Given the description of an element on the screen output the (x, y) to click on. 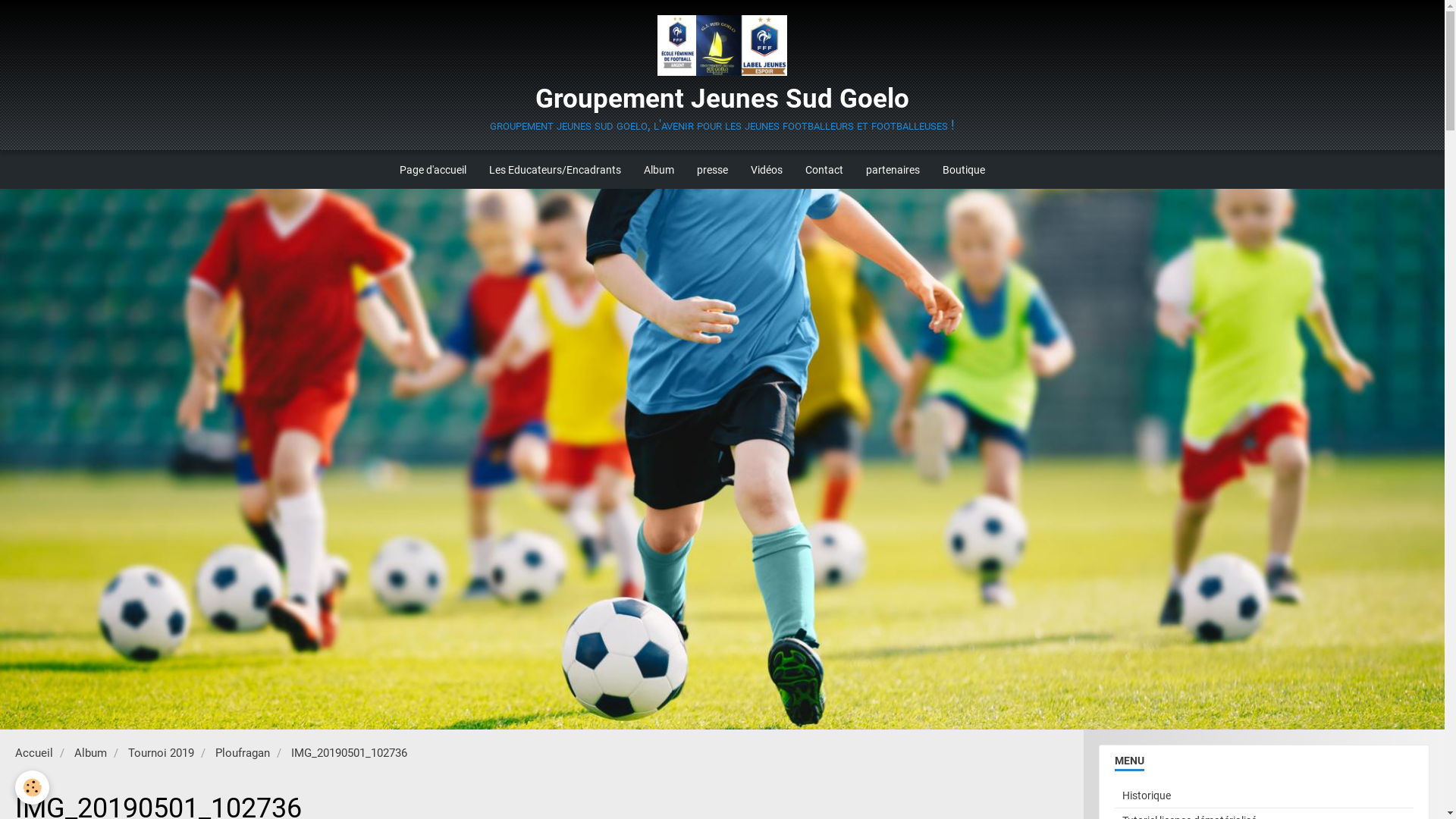
presse Element type: text (712, 169)
Historique Element type: text (1263, 795)
Tournoi 2019 Element type: text (161, 752)
Les Educateurs/Encadrants Element type: text (554, 169)
Accueil Element type: text (34, 752)
Contact Element type: text (823, 169)
partenaires Element type: text (892, 169)
Ploufragan Element type: text (242, 752)
Boutique Element type: text (963, 169)
Page d'accueil Element type: text (432, 169)
Album Element type: text (90, 752)
Album Element type: text (658, 169)
